Given the description of an element on the screen output the (x, y) to click on. 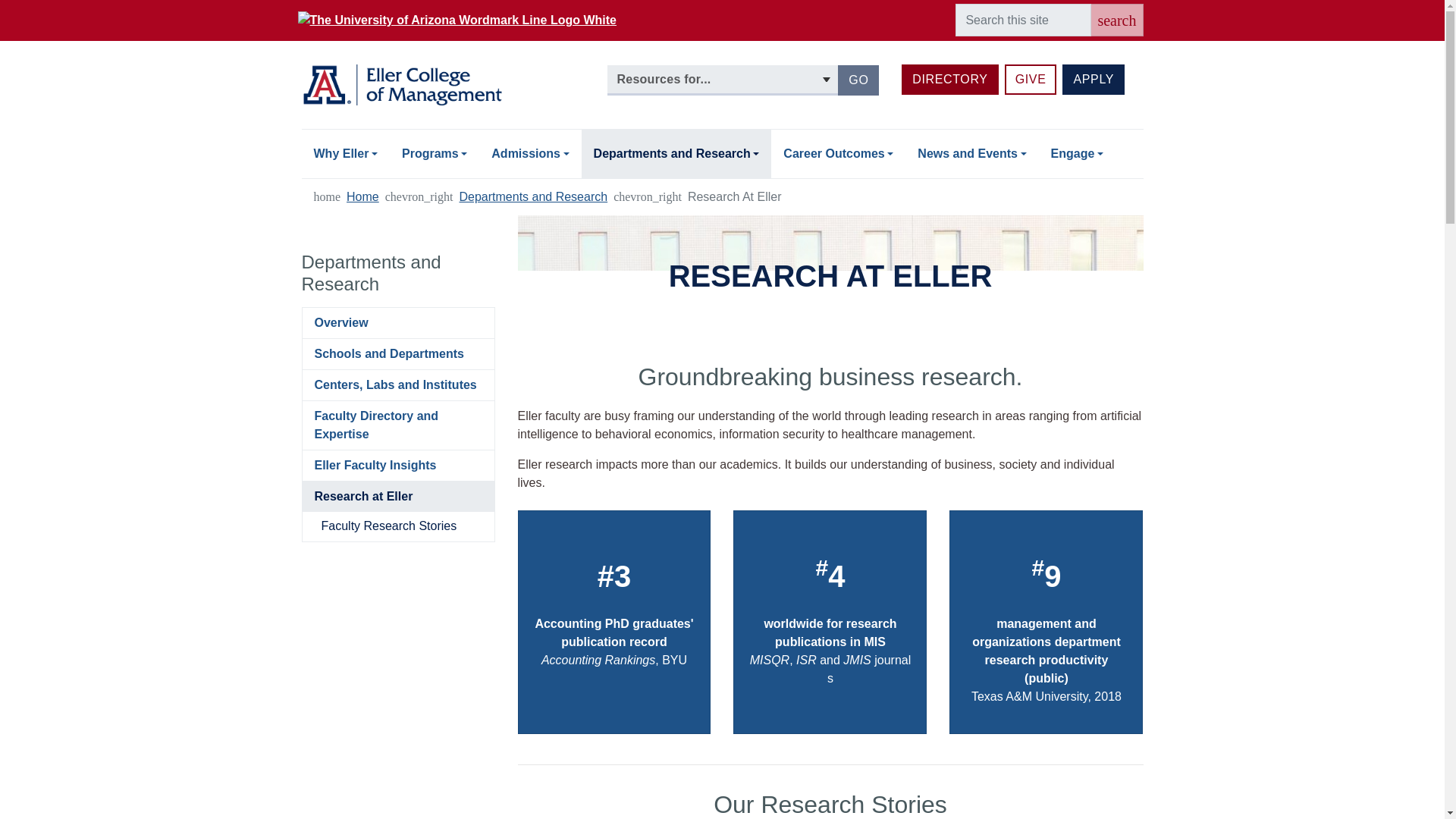
The University of Arizona homepage (459, 20)
Skip to main content (721, 1)
DIRECTORY (949, 79)
Enter the terms you wish to search for. (1022, 20)
Why Eller (345, 153)
search (1116, 20)
Programs (434, 153)
GIVE (858, 80)
Admissions (1030, 79)
